Given the description of an element on the screen output the (x, y) to click on. 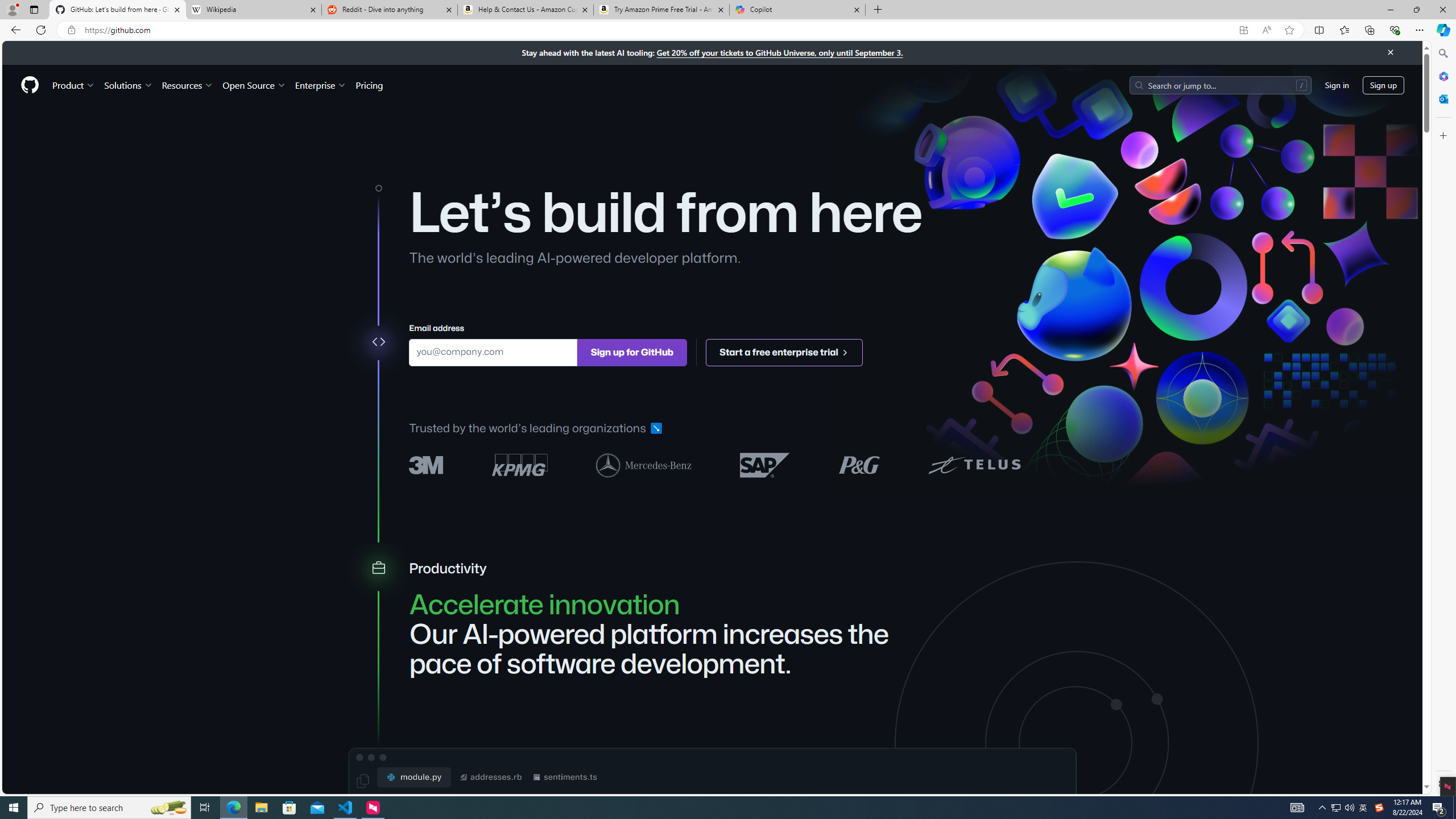
3M logo (426, 465)
App available. Install GitHub (1243, 29)
Solutions (128, 84)
SAP logo (764, 464)
Enterprise (319, 84)
Open Source (254, 84)
Telus logo (973, 464)
